Given the description of an element on the screen output the (x, y) to click on. 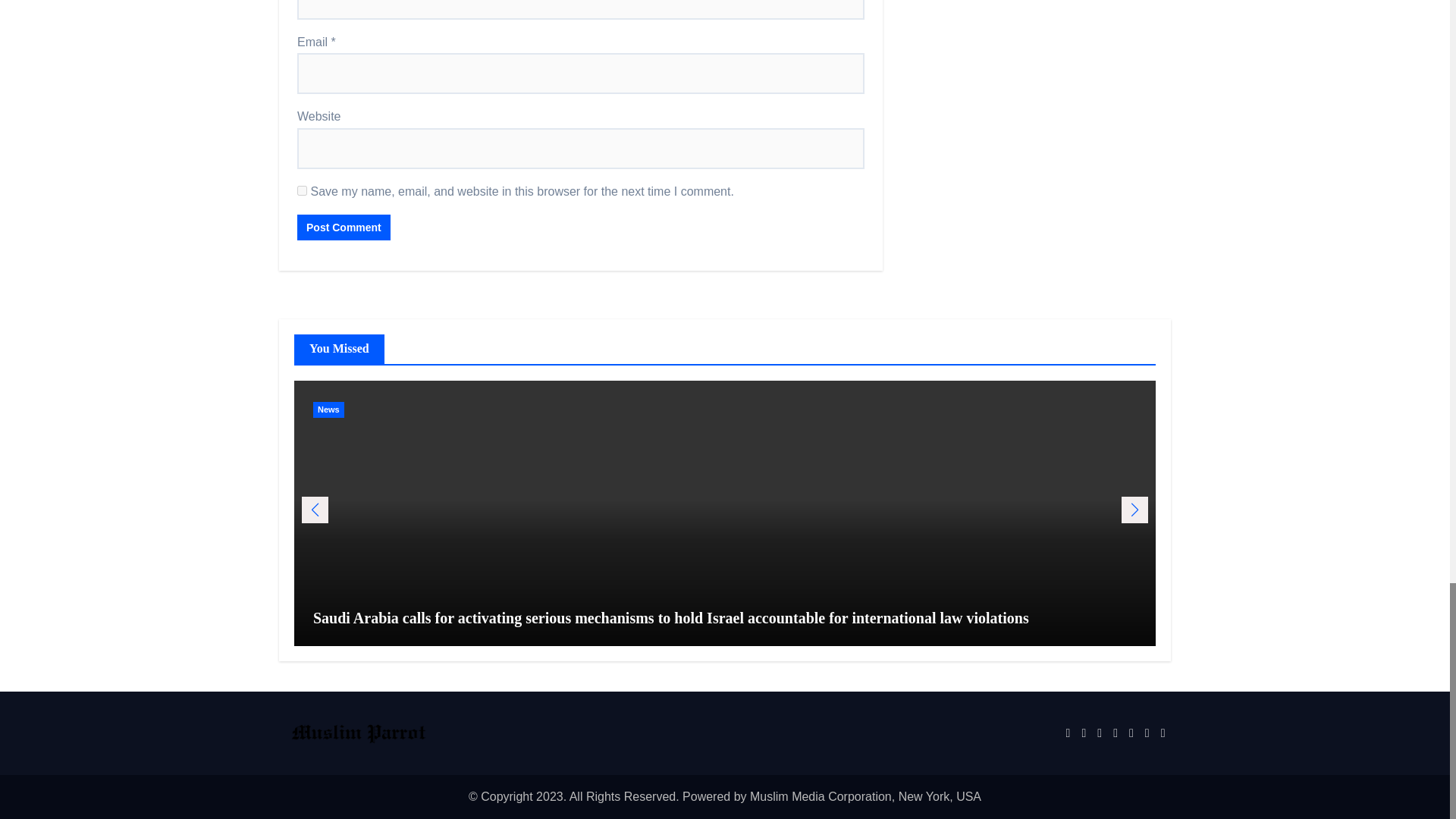
yes (302, 190)
Post Comment (343, 227)
